Given the description of an element on the screen output the (x, y) to click on. 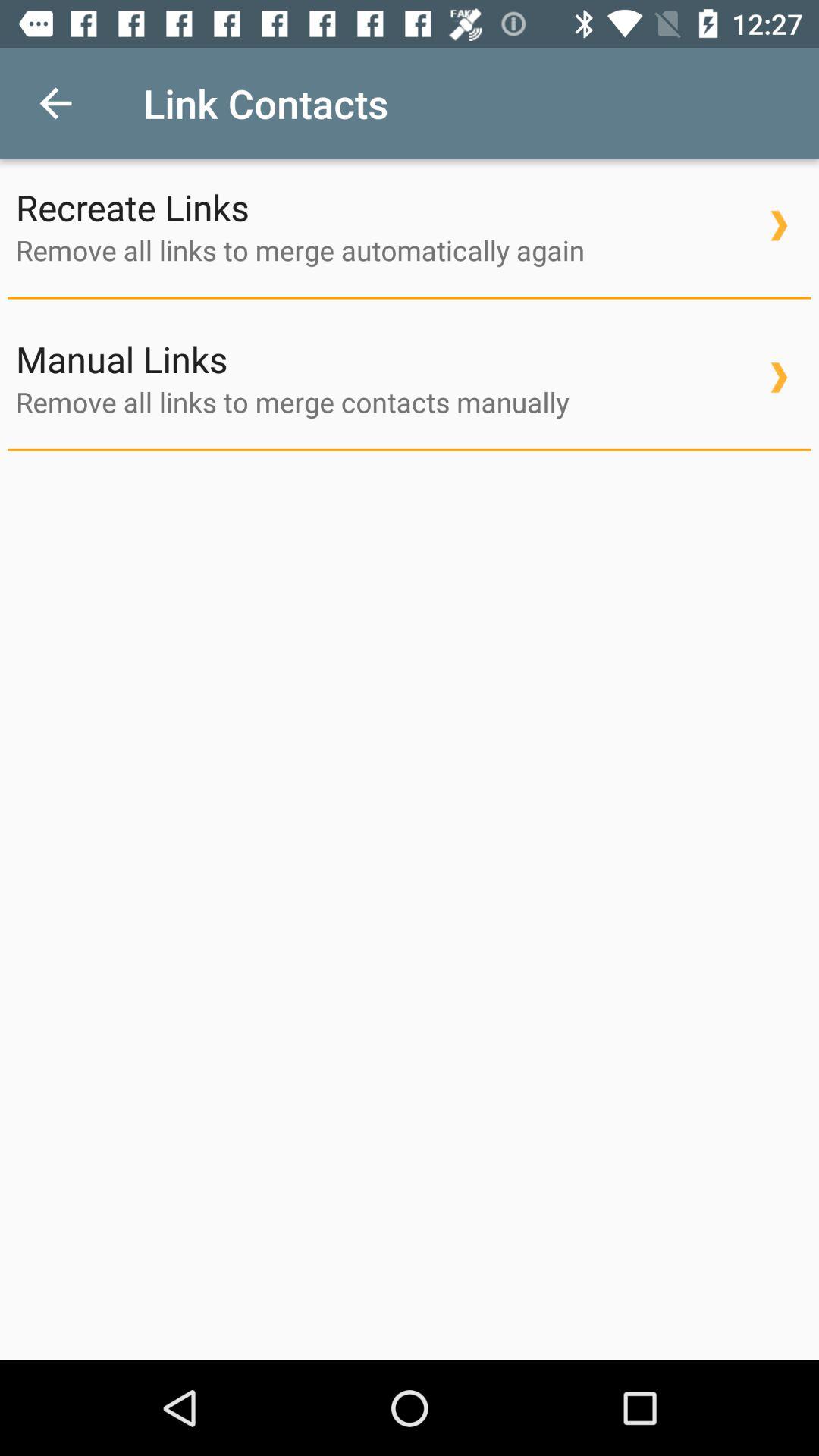
turn off the item next to the link contacts item (55, 103)
